Given the description of an element on the screen output the (x, y) to click on. 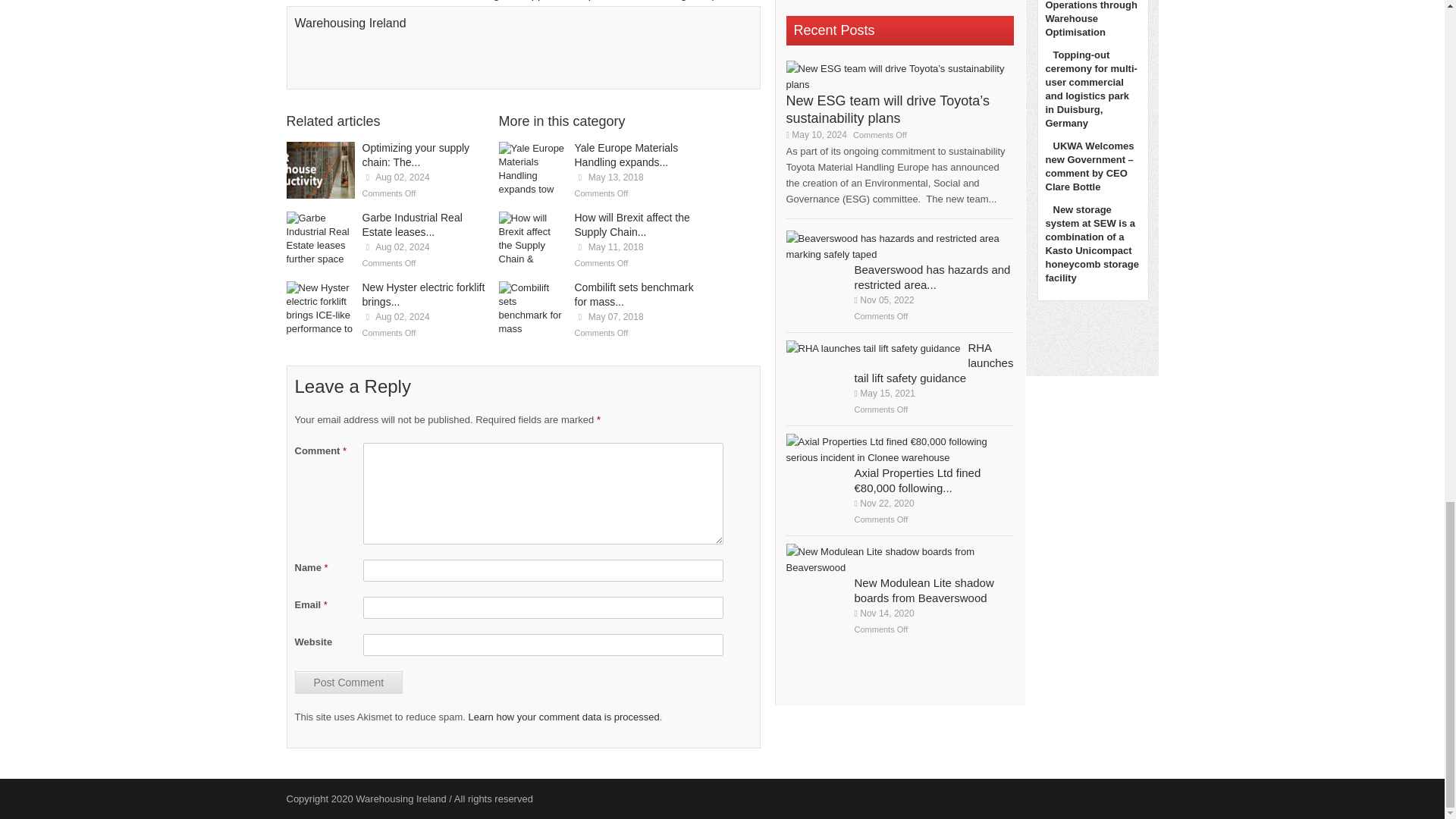
Yale Europe Materials Handling expands tow tractor range (533, 170)
Warehousing Ireland (350, 22)
Posts by Warehousing Ireland (350, 22)
Post Comment (348, 681)
Optimizing your supply chain: The... (416, 154)
